Given the description of an element on the screen output the (x, y) to click on. 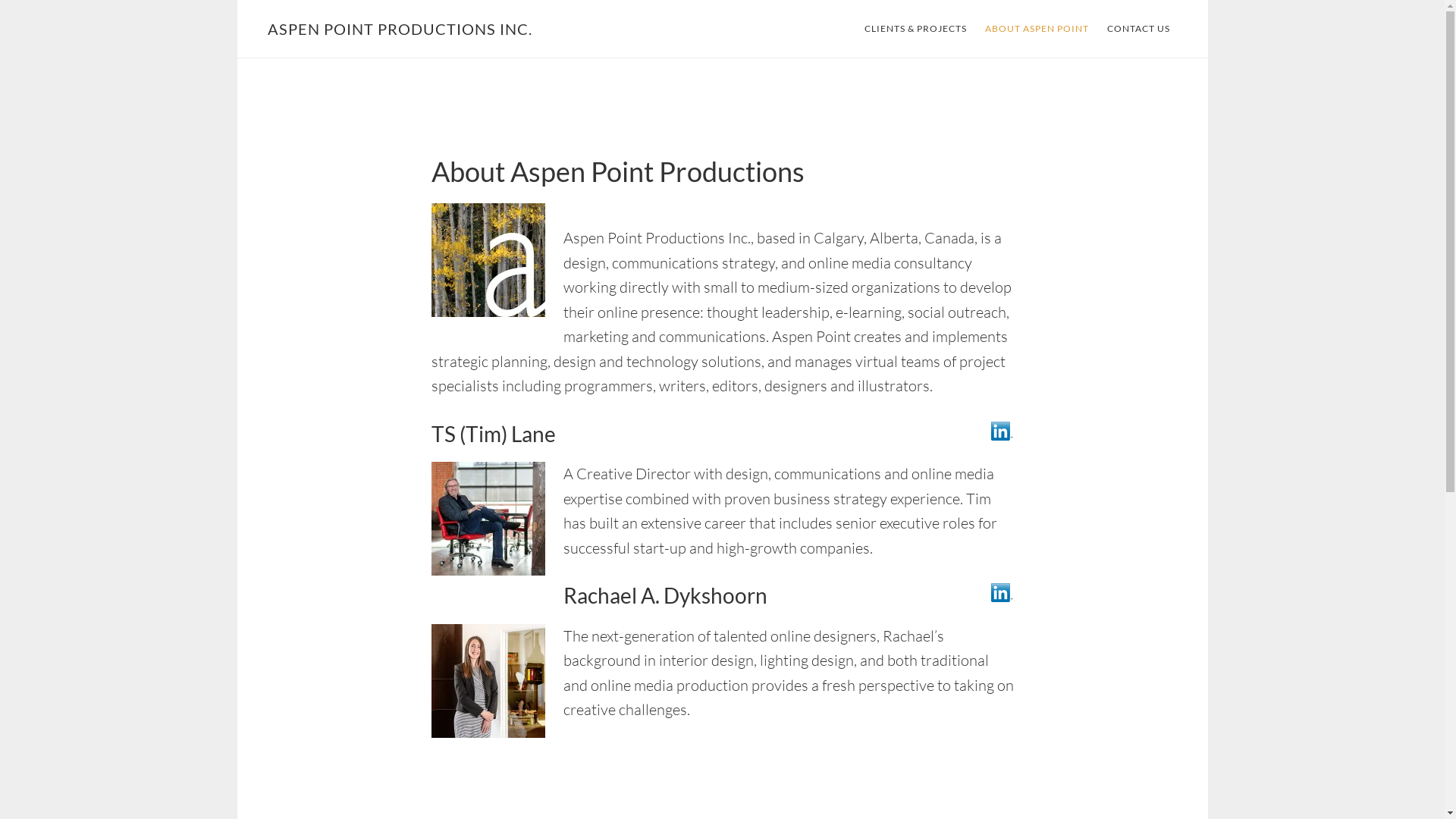
CONTACT US Element type: text (1138, 28)
CLIENTS & PROJECTS Element type: text (915, 28)
ASPEN POINT PRODUCTIONS INC. Element type: text (398, 28)
ABOUT ASPEN POINT Element type: text (1035, 28)
Skip to main content Element type: text (236, 0)
